Given the description of an element on the screen output the (x, y) to click on. 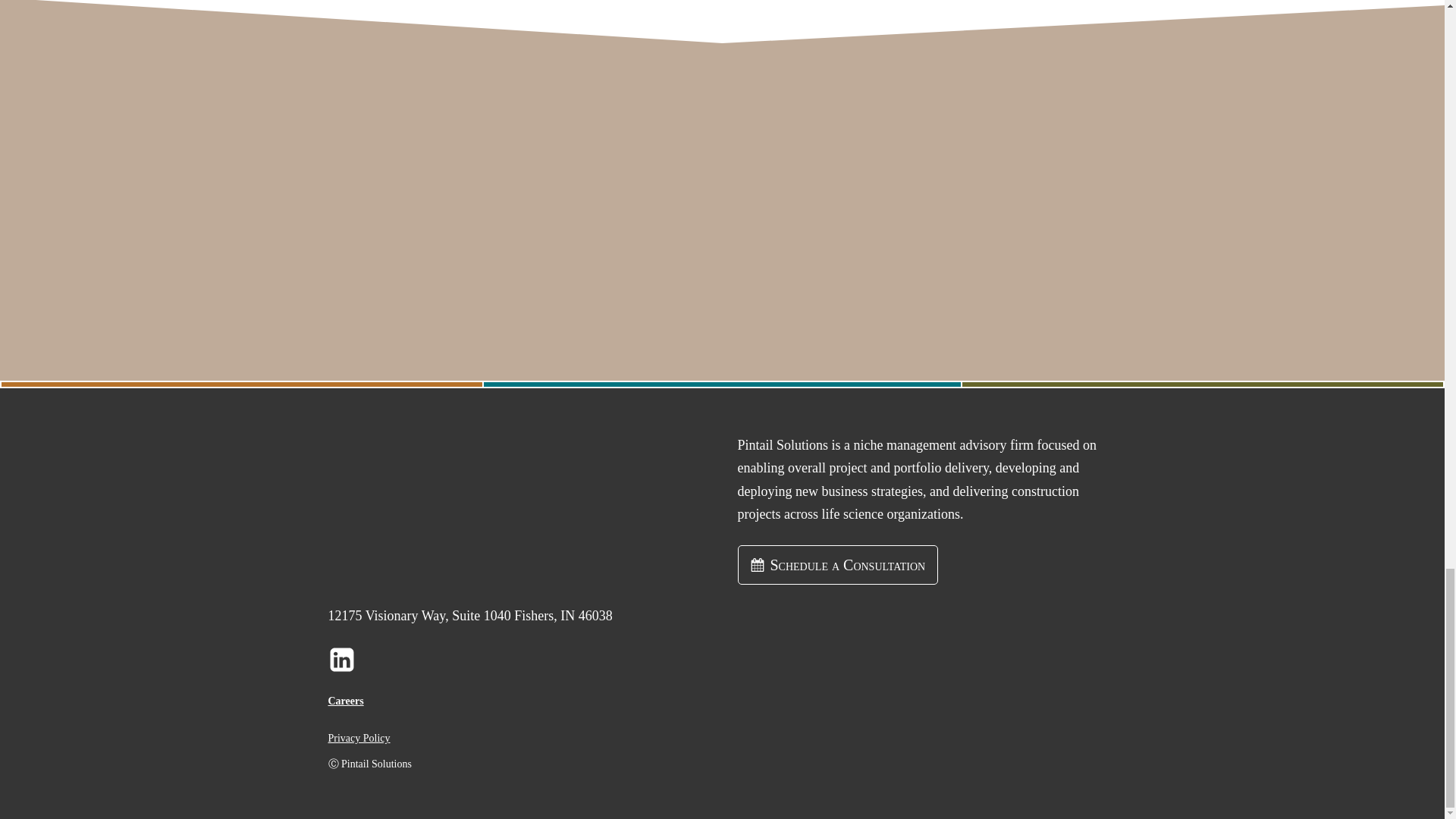
Schedule a Consultation (836, 564)
Careers at Pintail Solutions (344, 701)
Schedule a Consultation with Pintail Solutions (836, 564)
Follow Pintail Solutions on LinkedIn (341, 659)
Pintail Solutions Privacy Policy (358, 738)
12175 Visionary Way, Suite 1040 Fishers, IN 46038 (469, 615)
Privacy Policy (358, 738)
Careers (344, 701)
